Given the description of an element on the screen output the (x, y) to click on. 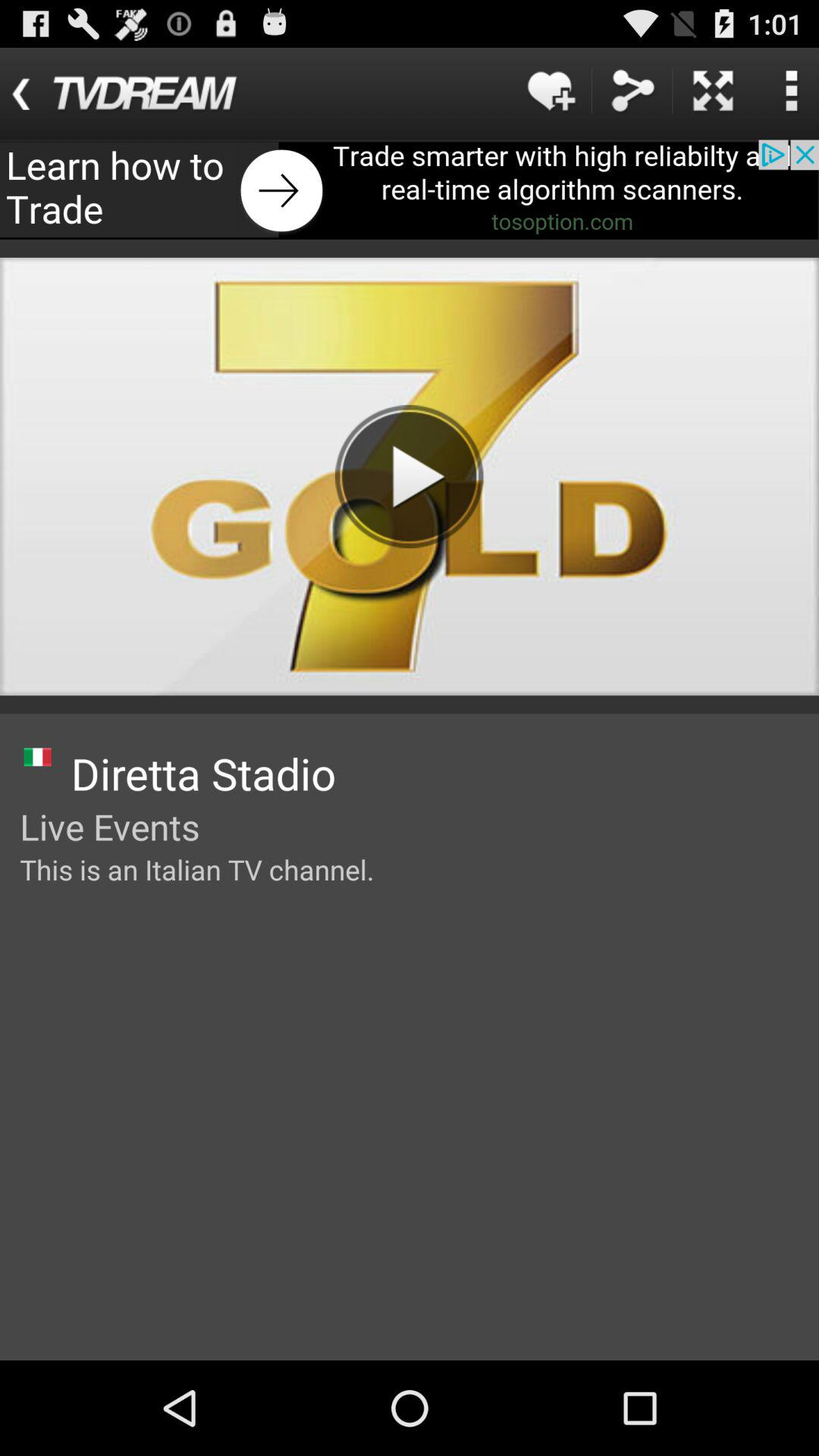
all seleat (712, 90)
